Given the description of an element on the screen output the (x, y) to click on. 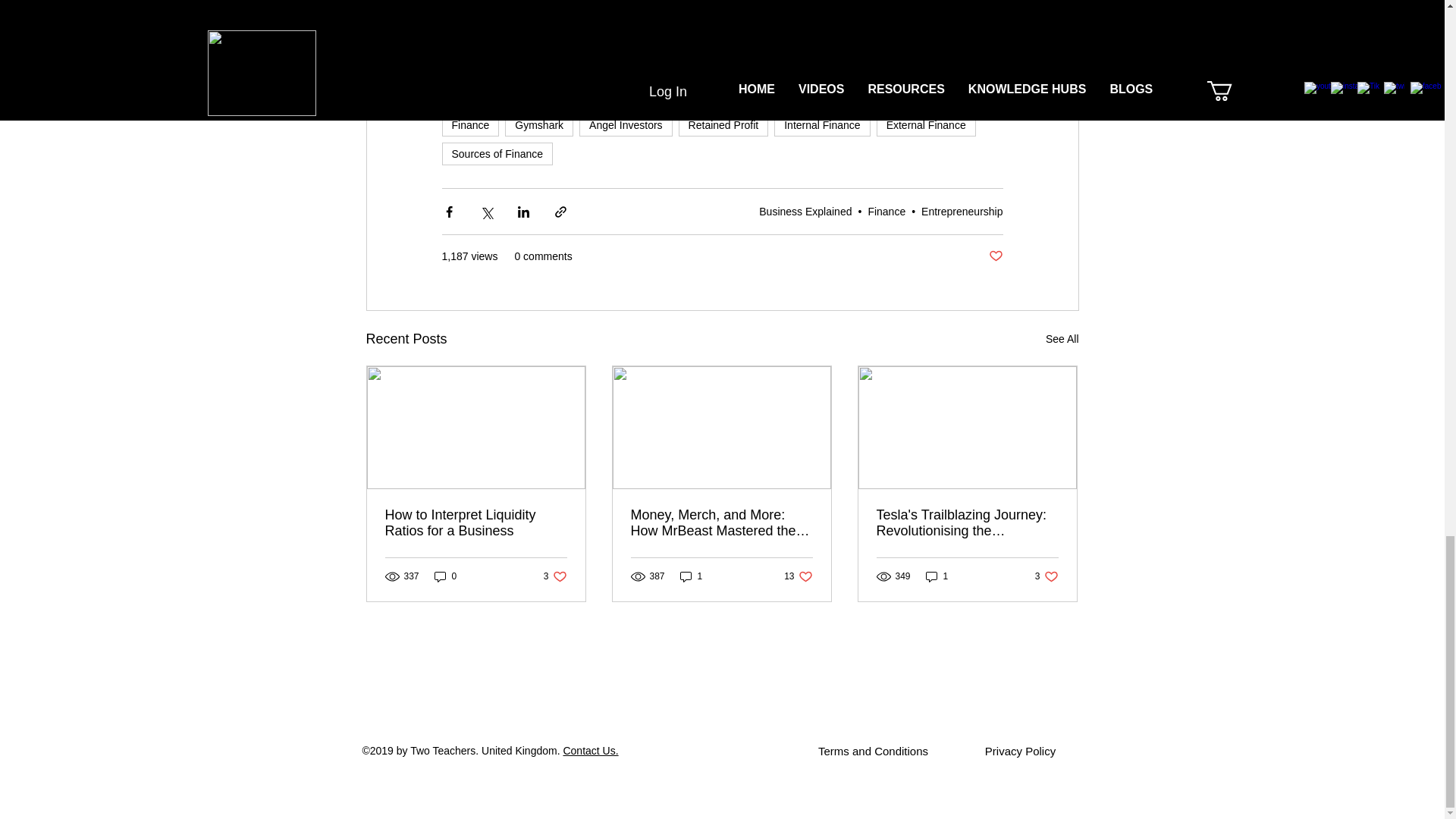
External Finance (925, 124)
Finance (470, 124)
Gymshark (539, 124)
Angel Investors (625, 124)
Sources of Finance (497, 153)
Internal Finance (821, 124)
Retained Profit (723, 124)
